Given the description of an element on the screen output the (x, y) to click on. 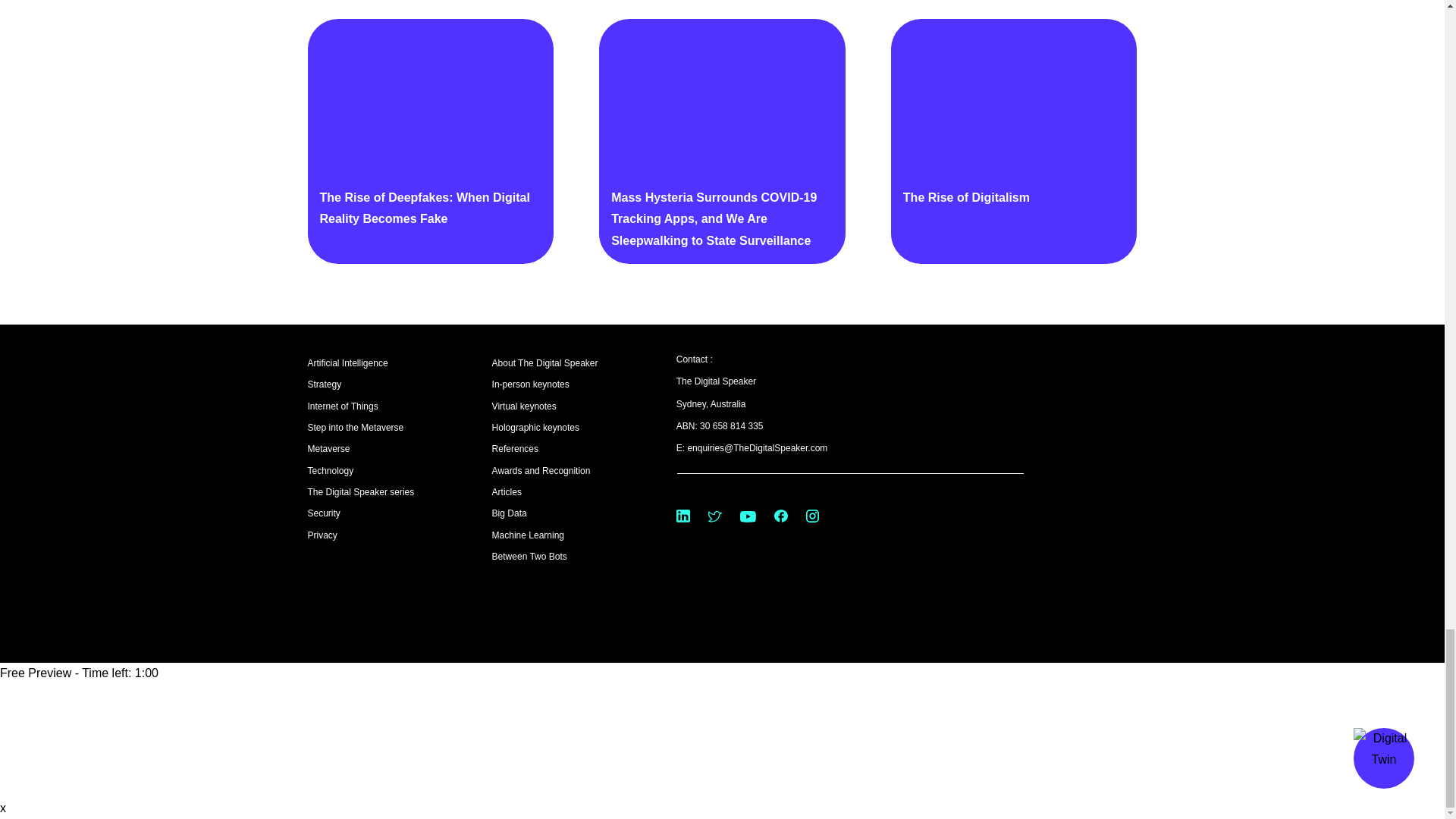
Youtube (747, 516)
Instagram (812, 515)
Facebook (780, 515)
Linkedin (683, 515)
Twitter (714, 516)
